Given the description of an element on the screen output the (x, y) to click on. 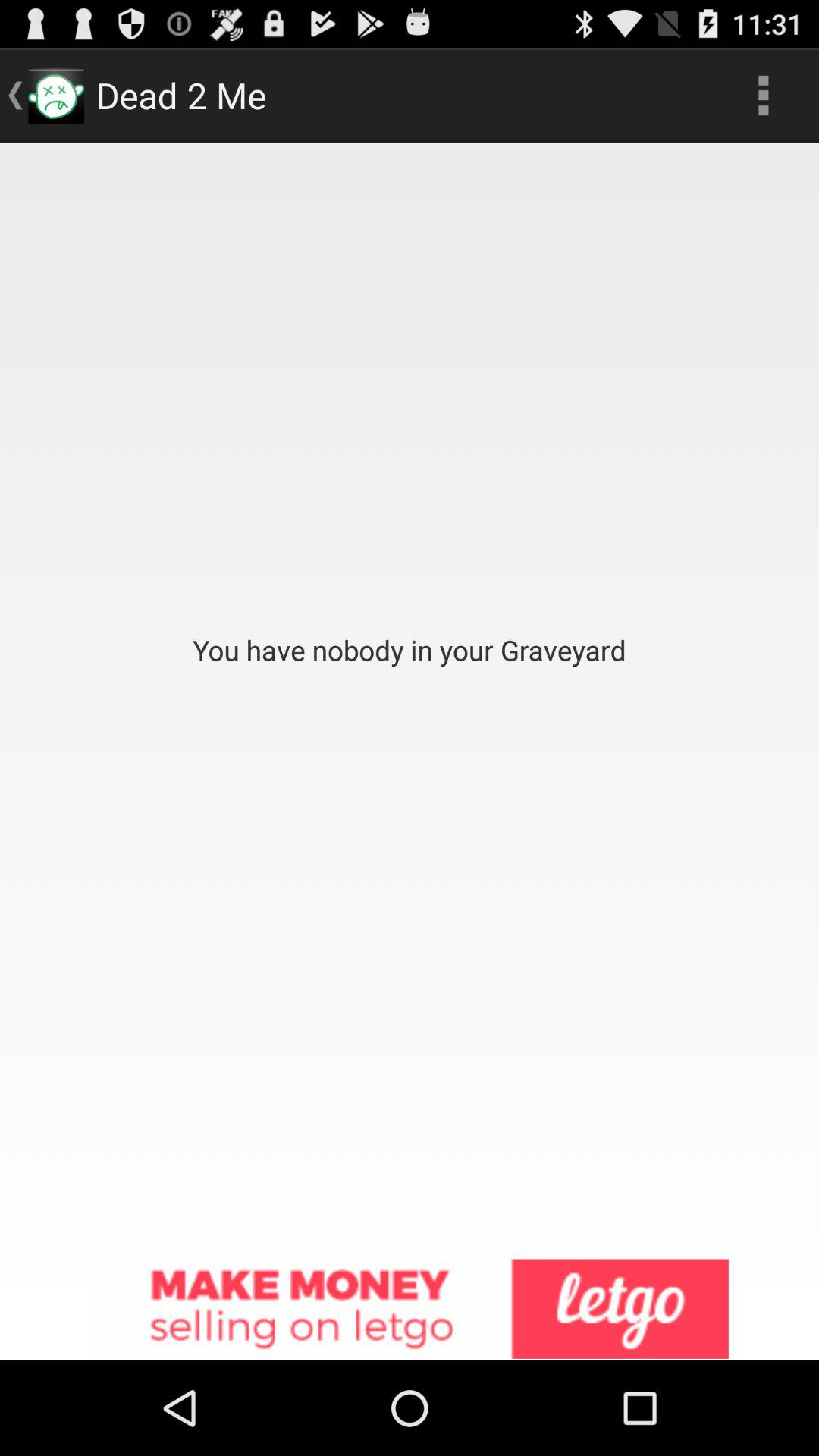
advertisement to open letgo app (409, 1309)
